Given the description of an element on the screen output the (x, y) to click on. 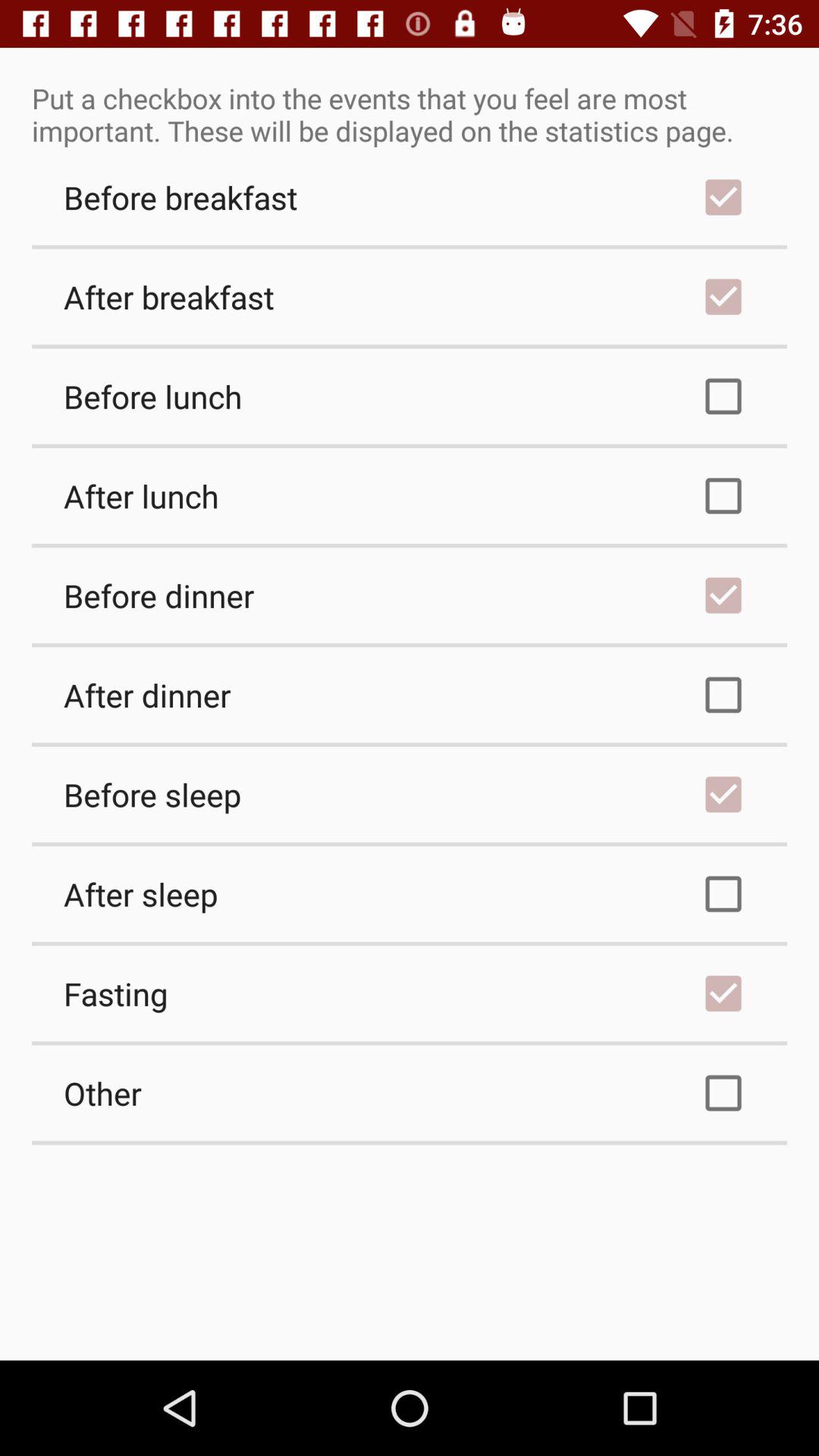
open before dinner (409, 595)
